Given the description of an element on the screen output the (x, y) to click on. 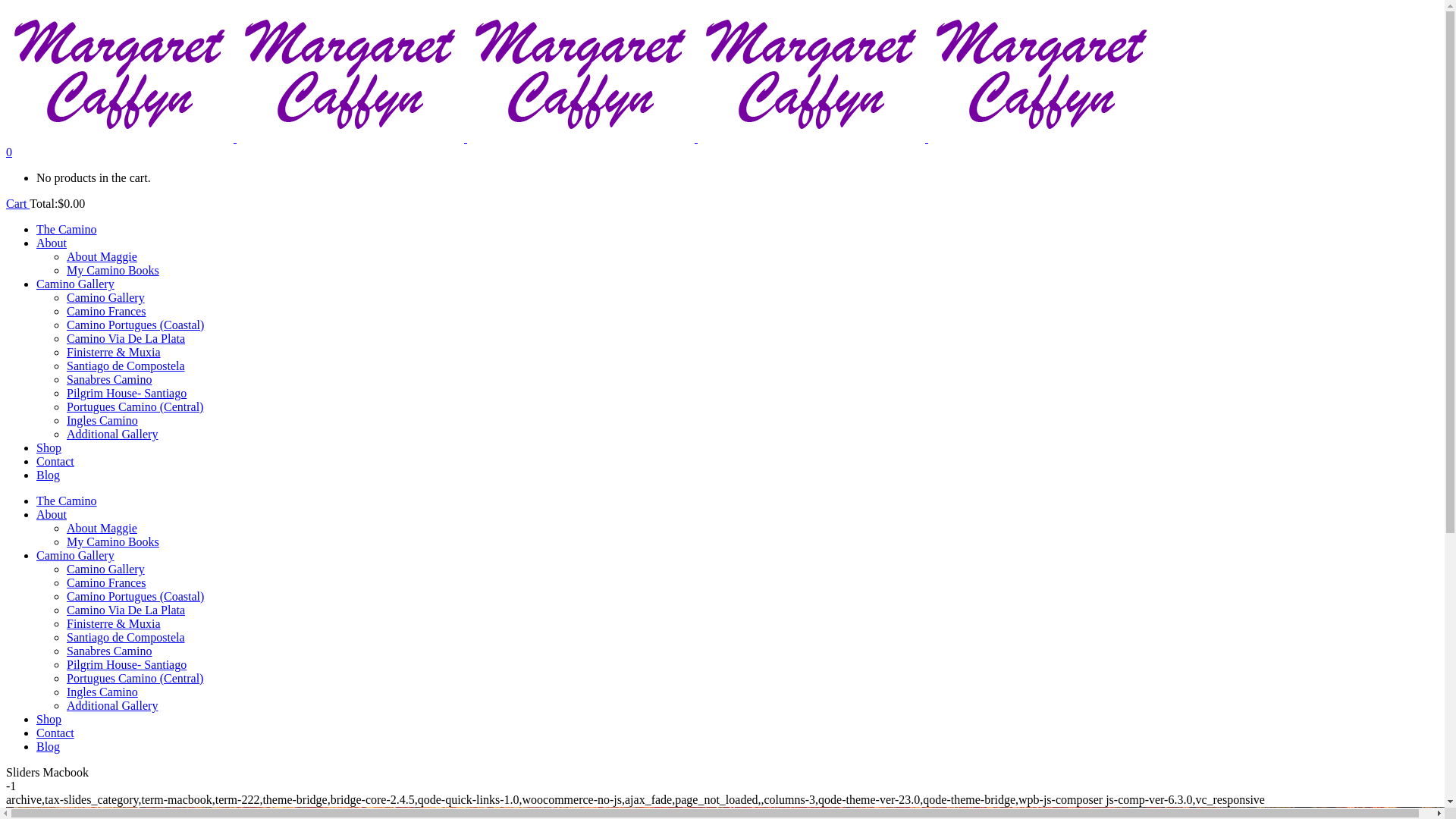
Santiago de Compostela Element type: text (125, 636)
Shop Element type: text (48, 447)
0 Element type: text (9, 151)
Camino Gallery Element type: text (75, 555)
Camino Frances Element type: text (105, 582)
Ingles Camino Element type: text (102, 691)
Camino Frances Element type: text (105, 310)
Camino Gallery Element type: text (105, 297)
Finisterre & Muxia Element type: text (113, 351)
Blog Element type: text (47, 746)
About Element type: text (51, 242)
My Camino Books Element type: text (112, 541)
Pilgrim House- Santiago Element type: text (126, 392)
Santiago de Compostela Element type: text (125, 365)
Camino Portugues (Coastal) Element type: text (134, 595)
Camino Portugues (Coastal) Element type: text (134, 324)
Shop Element type: text (48, 718)
The Camino Element type: text (66, 500)
Additional Gallery Element type: text (111, 705)
Blog Element type: text (47, 474)
About Maggie Element type: text (101, 527)
Camino Gallery Element type: text (105, 568)
The Camino Element type: text (66, 228)
Camino Via De La Plata Element type: text (125, 338)
My Camino Books Element type: text (112, 269)
Finisterre & Muxia Element type: text (113, 623)
Portugues Camino (Central) Element type: text (134, 677)
Pilgrim House- Santiago Element type: text (126, 664)
Ingles Camino Element type: text (102, 420)
About Maggie Element type: text (101, 256)
Contact Element type: text (55, 732)
Contact Element type: text (55, 461)
Cart Element type: text (17, 203)
About Element type: text (51, 514)
Camino Gallery Element type: text (75, 283)
Camino Via De La Plata Element type: text (125, 609)
Additional Gallery Element type: text (111, 433)
Sanabres Camino Element type: text (108, 650)
Sanabres Camino Element type: text (108, 379)
Portugues Camino (Central) Element type: text (134, 406)
